Given the description of an element on the screen output the (x, y) to click on. 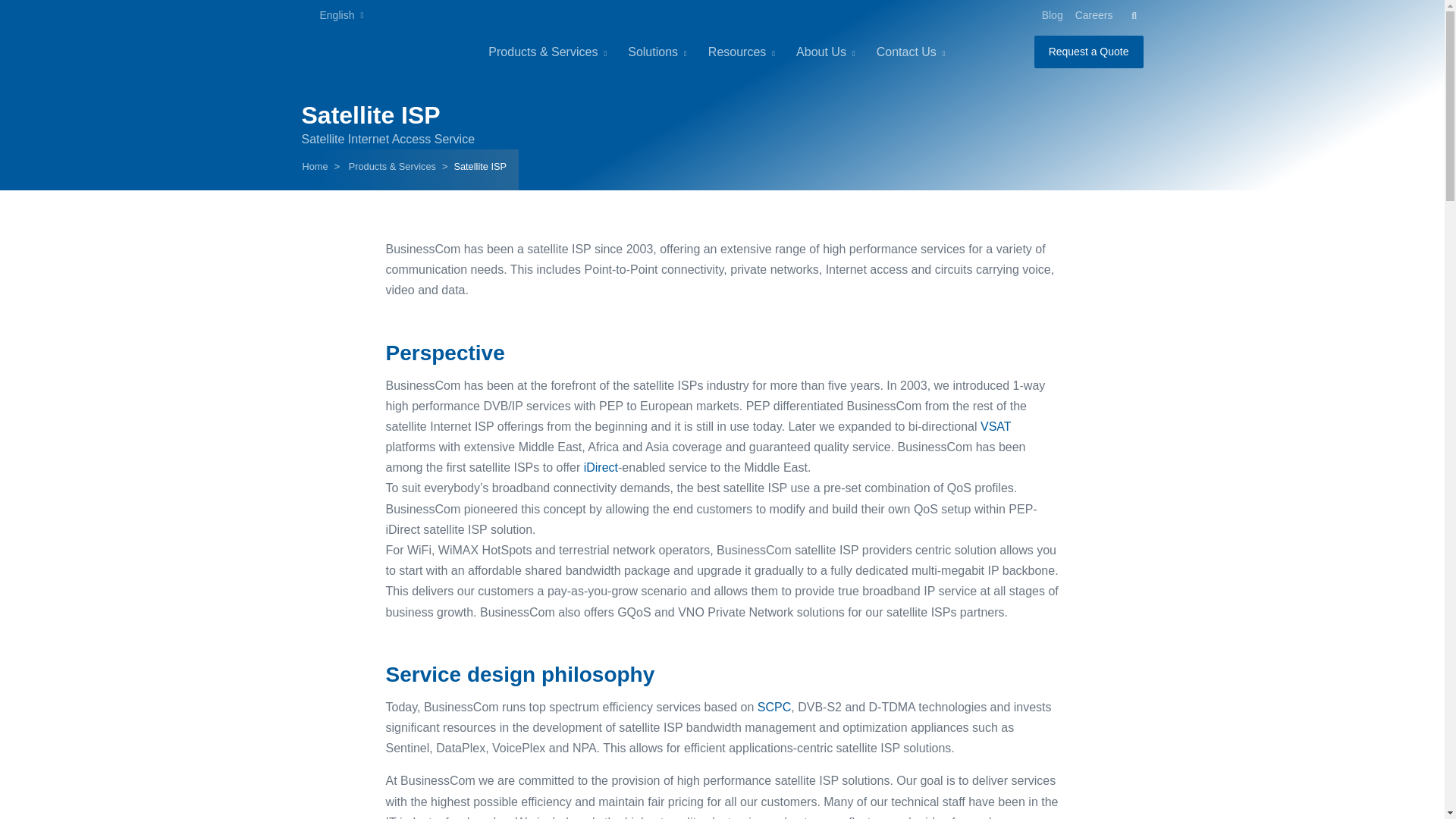
VSAT (994, 426)
English (332, 15)
iDirect (600, 467)
Careers (1093, 15)
SCPC (773, 707)
Blog (1051, 15)
